Given the description of an element on the screen output the (x, y) to click on. 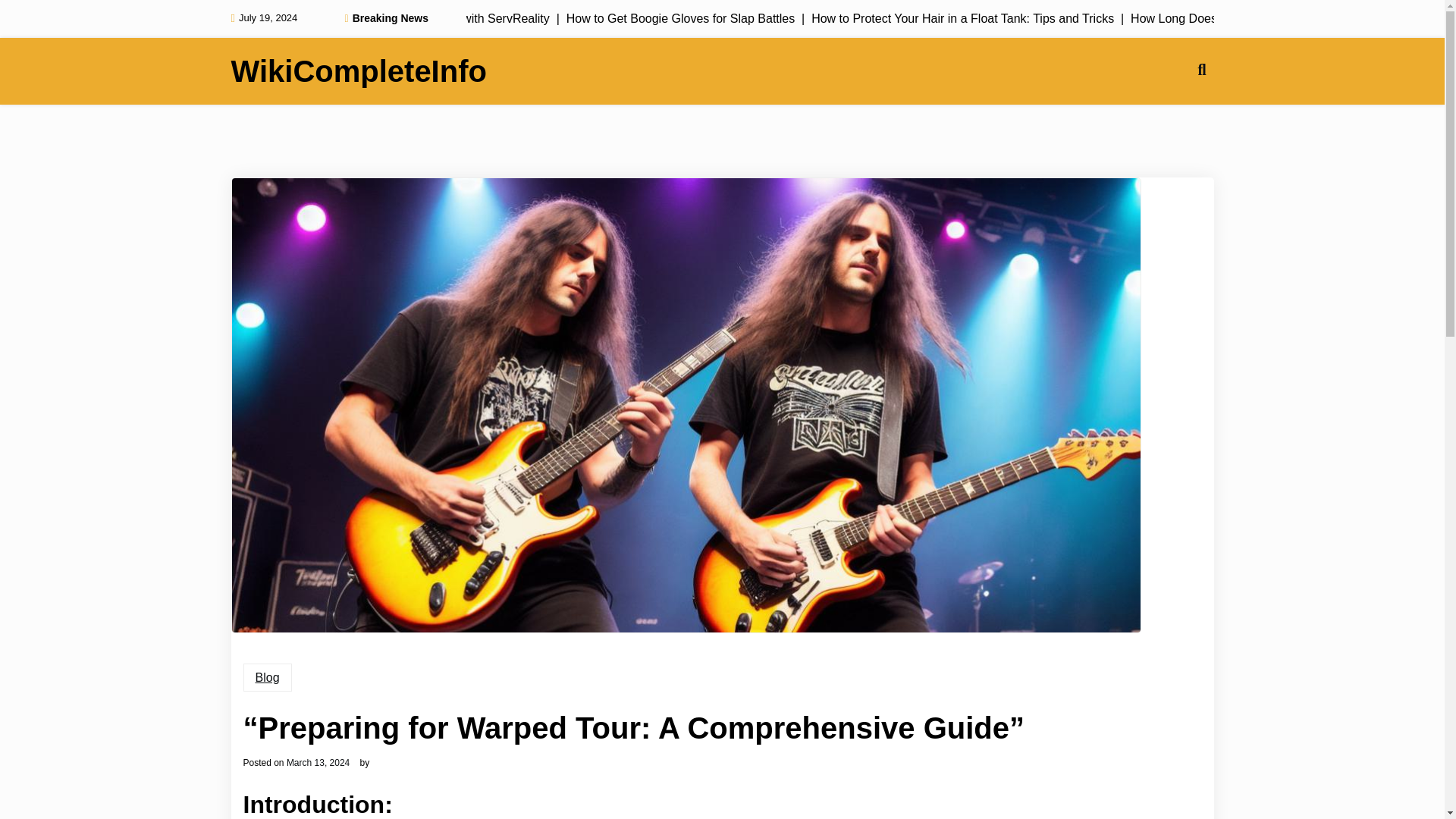
WikiCompleteInfo (358, 71)
March 13, 2024 (317, 762)
Blog (267, 677)
